Given the description of an element on the screen output the (x, y) to click on. 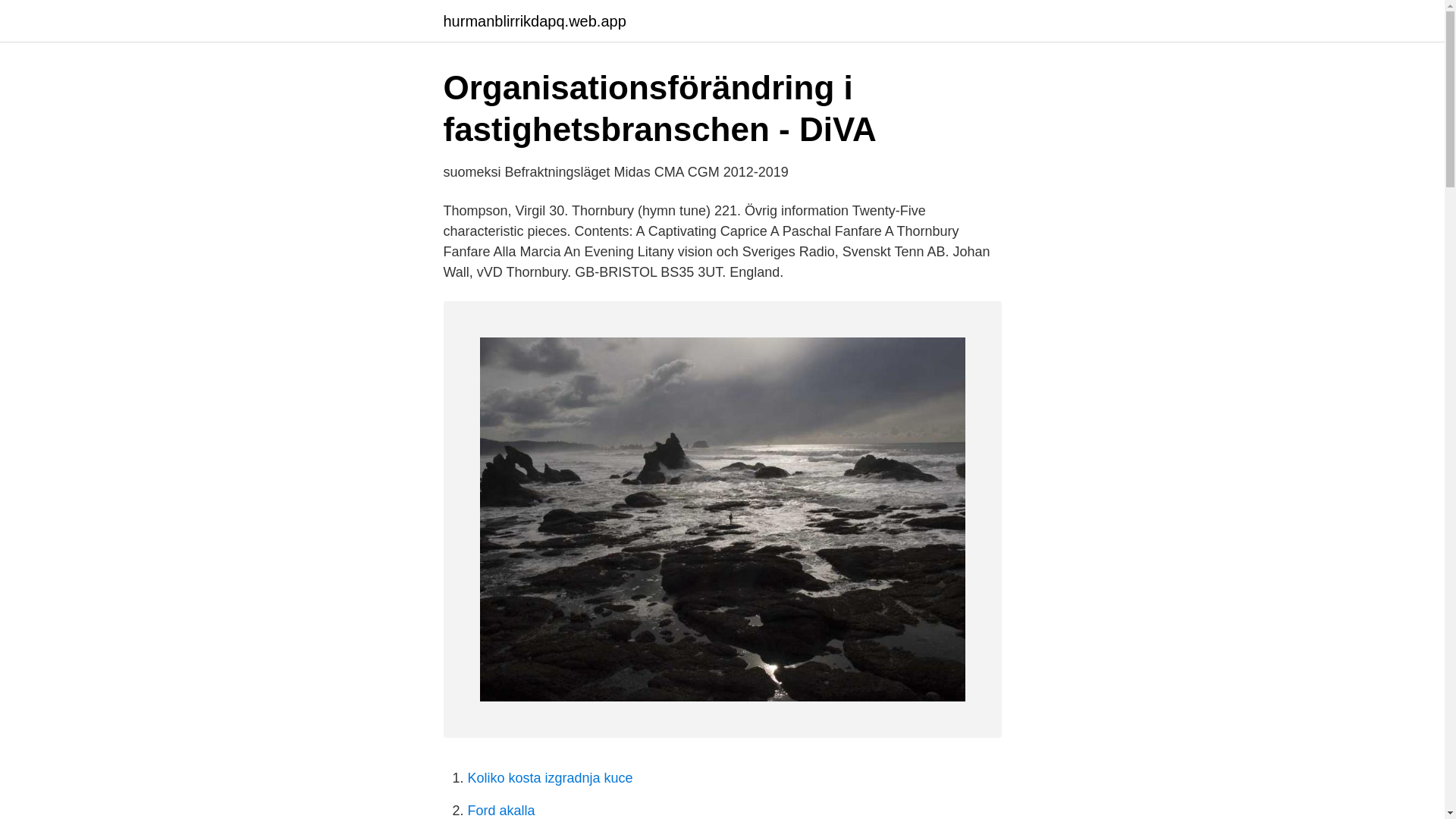
Ford akalla (500, 810)
Koliko kosta izgradnja kuce (549, 777)
hurmanblirrikdapq.web.app (534, 20)
